Given the description of an element on the screen output the (x, y) to click on. 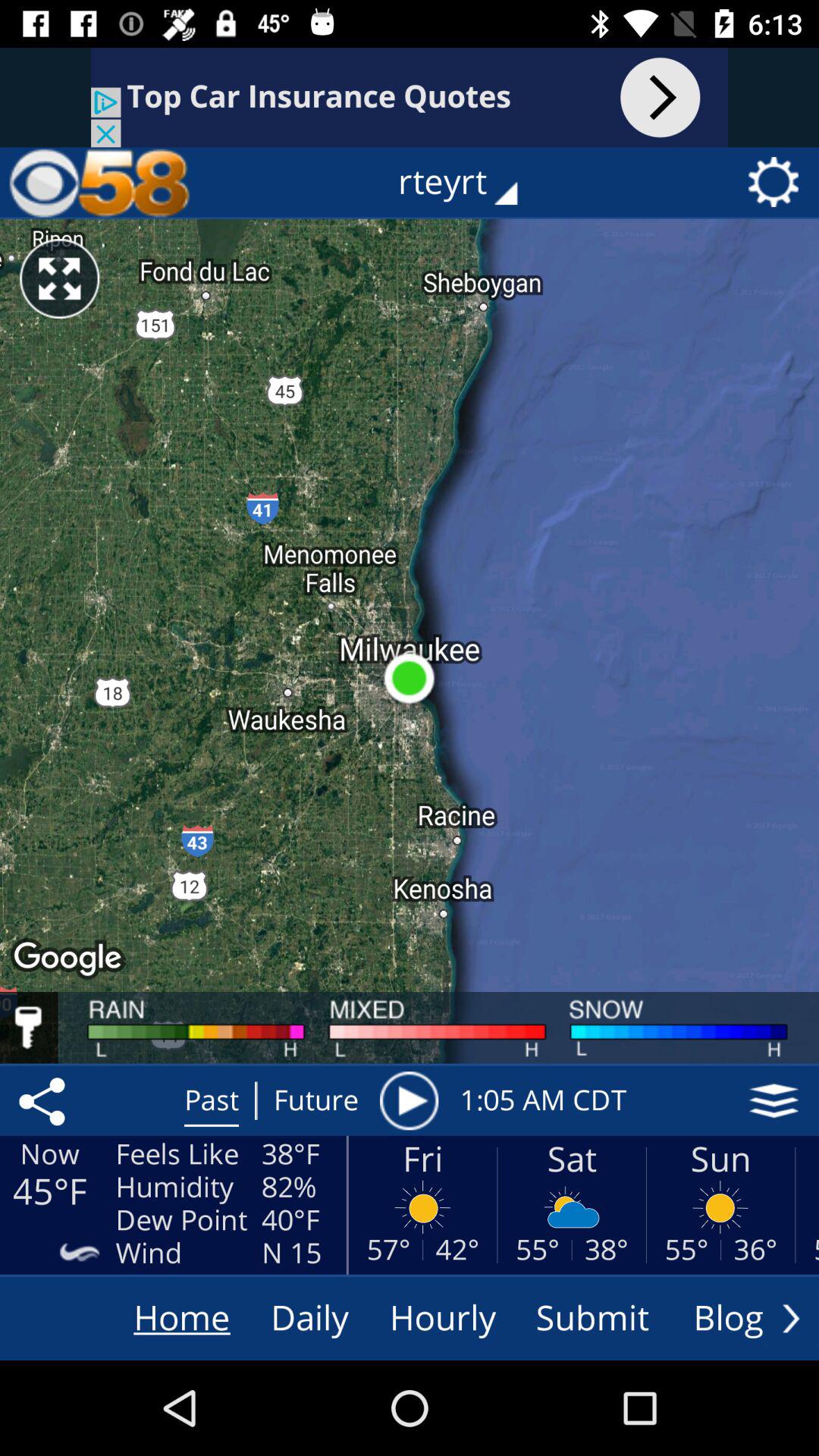
go to next (791, 1318)
